Given the description of an element on the screen output the (x, y) to click on. 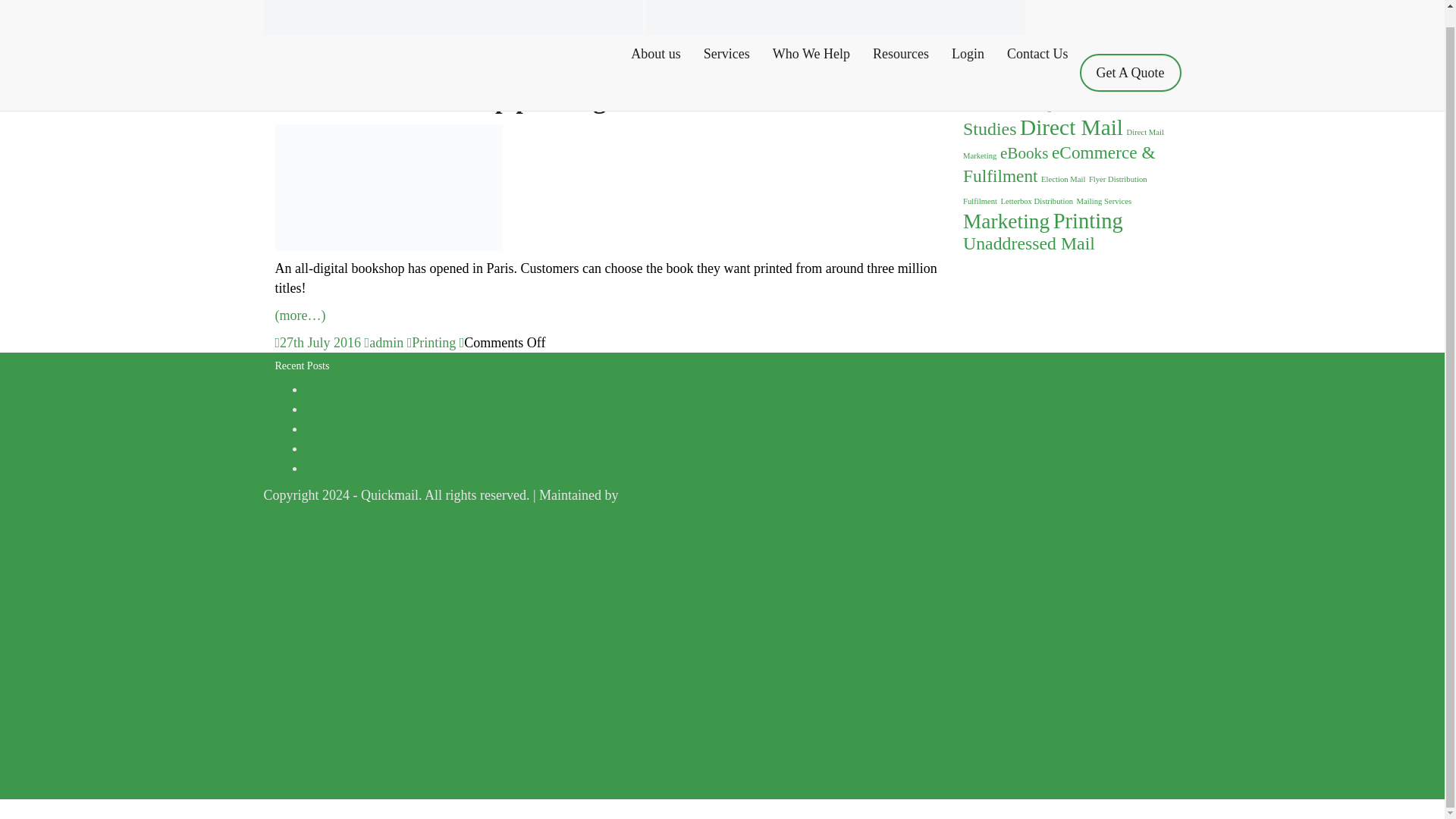
Services (727, 37)
Bulk Mail (1072, 107)
Services (727, 37)
Resources (900, 37)
Bookshop printing books on demand! (607, 99)
Printing (433, 342)
About us (656, 37)
About us (656, 37)
Get A Quote (1130, 55)
admin (386, 342)
Login (967, 37)
3PL Warehousing (1016, 106)
3PL (970, 106)
27th July 2016 (320, 342)
Who We Help (811, 37)
